Given the description of an element on the screen output the (x, y) to click on. 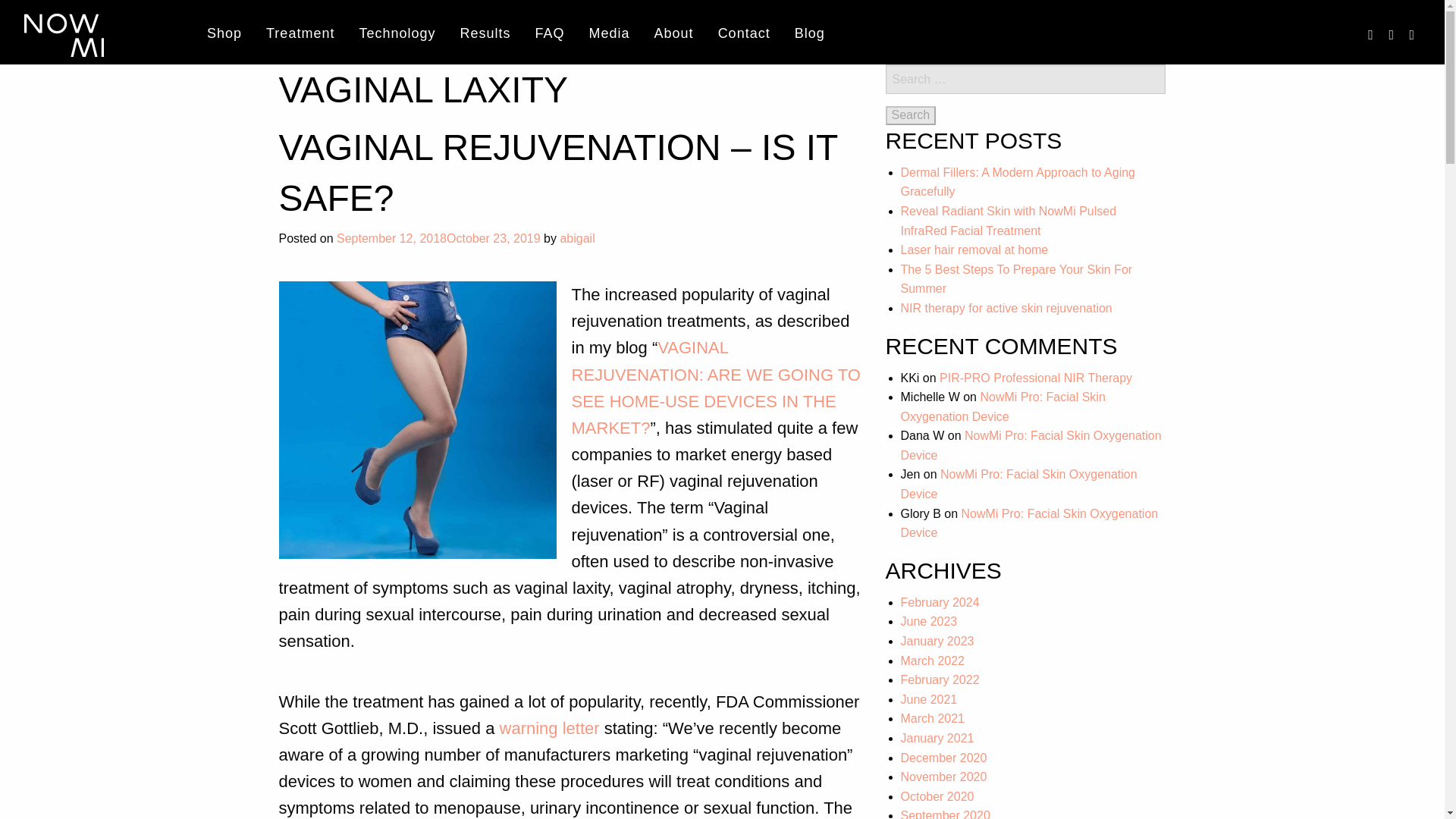
Treatment (299, 34)
Search (910, 115)
Contact (744, 34)
About (674, 34)
Results (484, 34)
Technology (396, 34)
September 12, 2018October 23, 2019 (438, 237)
Search (910, 115)
abigail (576, 237)
warning letter (549, 728)
Shop (224, 34)
Blog (810, 34)
FAQ (549, 34)
